Given the description of an element on the screen output the (x, y) to click on. 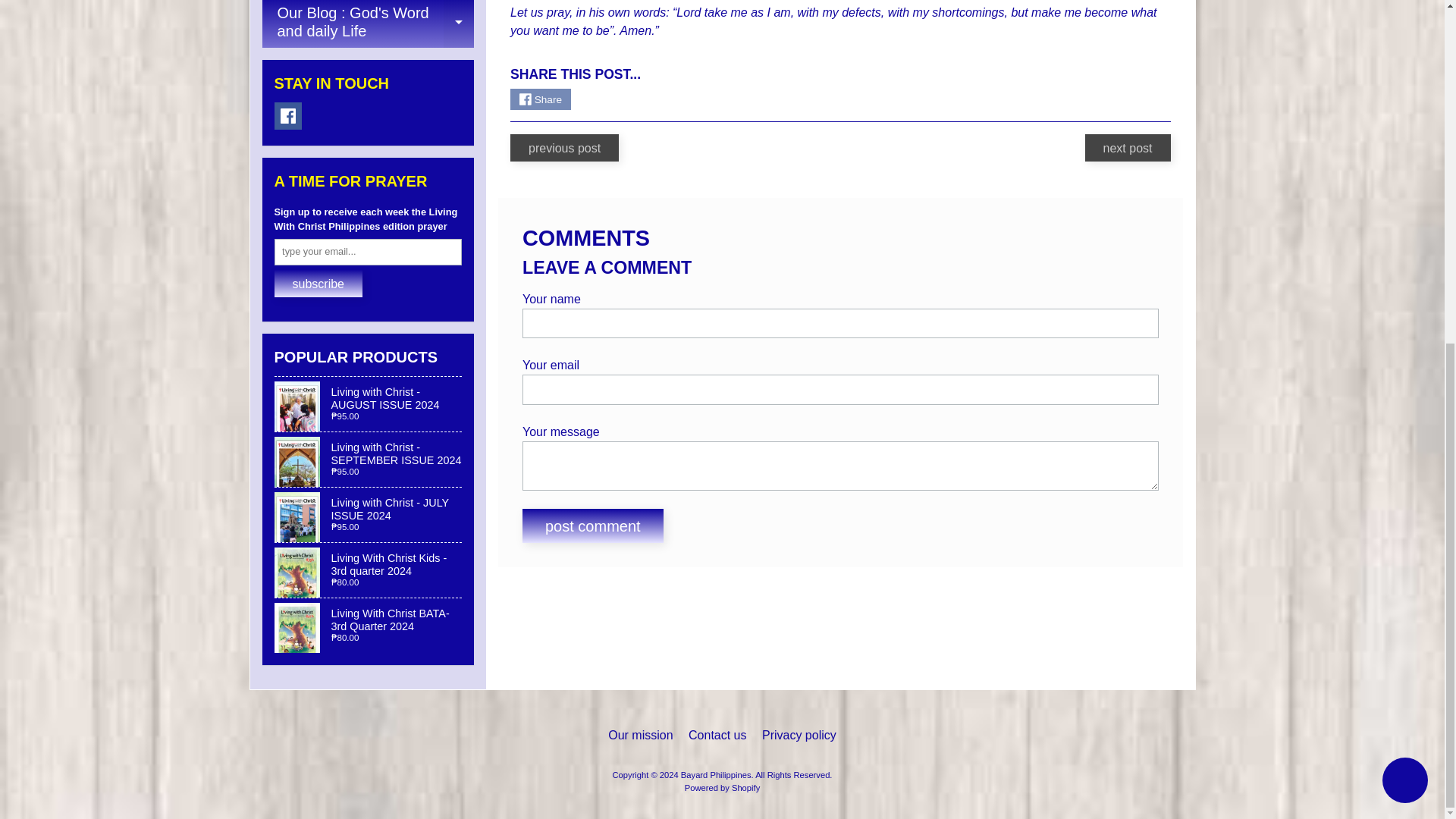
Living with Christ - SEPTEMBER ISSUE 2024 (369, 459)
Share on Facebook (540, 98)
Post comment (368, 23)
Living with Christ - AUGUST ISSUE 2024 (592, 525)
Living With Christ Kids - 3rd quarter 2024 (369, 403)
Facebook (369, 569)
Living with Christ - JULY ISSUE 2024 (288, 115)
Living With Christ BATA- 3rd Quarter 2024 (369, 514)
Shopify online store chat (369, 625)
